Given the description of an element on the screen output the (x, y) to click on. 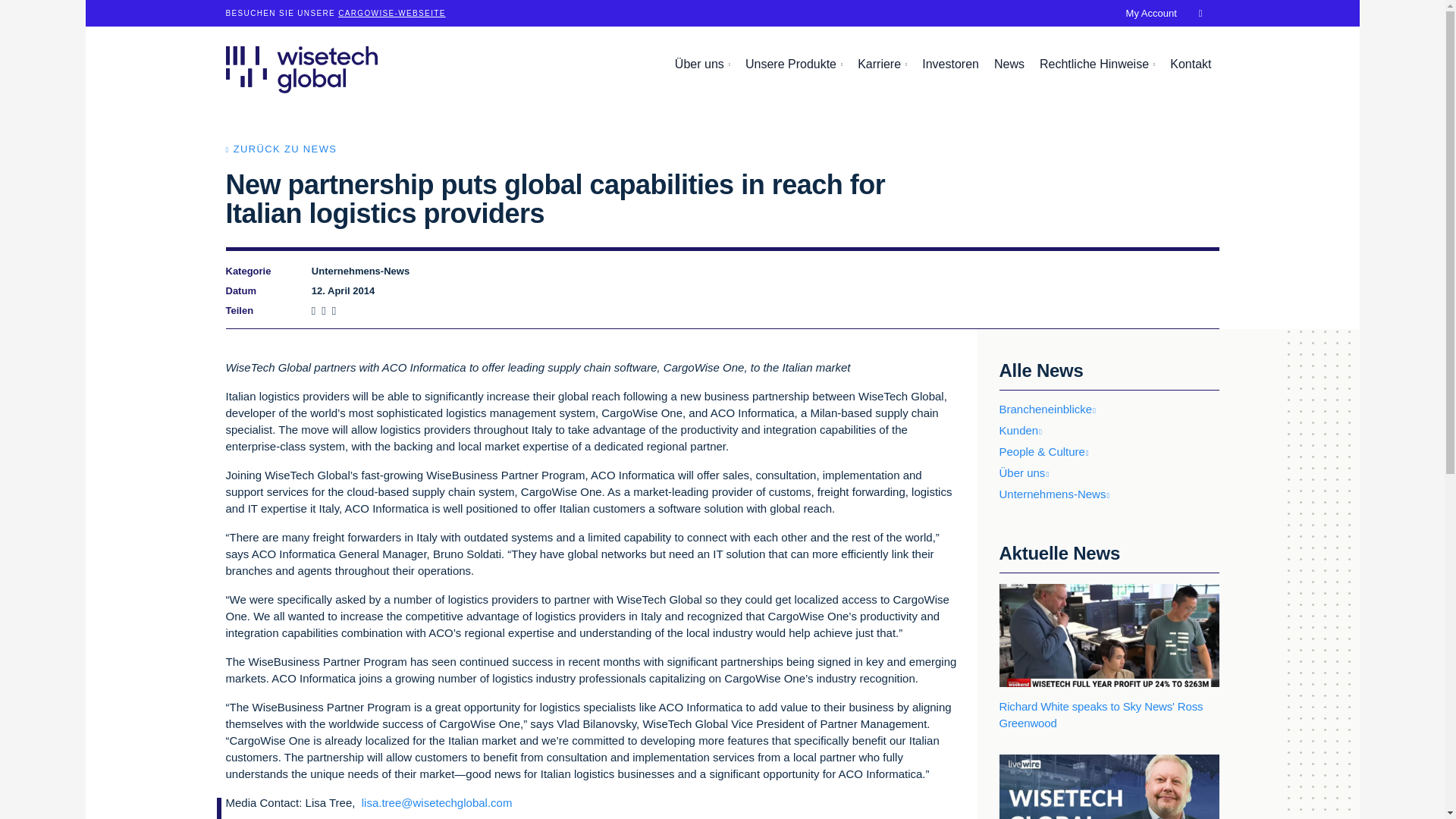
Kunden (1023, 430)
CARGOWISE-WEBSEITE (391, 13)
Investoren (950, 63)
Richard White speaks to Sky News' Ross Greenwood (1109, 657)
WiseTech Global (301, 69)
CargoWise (391, 13)
Rechtliche Hinweise (1096, 64)
Richard White speaks to Livewire post FY24 results (1109, 786)
My Account (1151, 13)
Unternehmens-News (1057, 493)
